Given the description of an element on the screen output the (x, y) to click on. 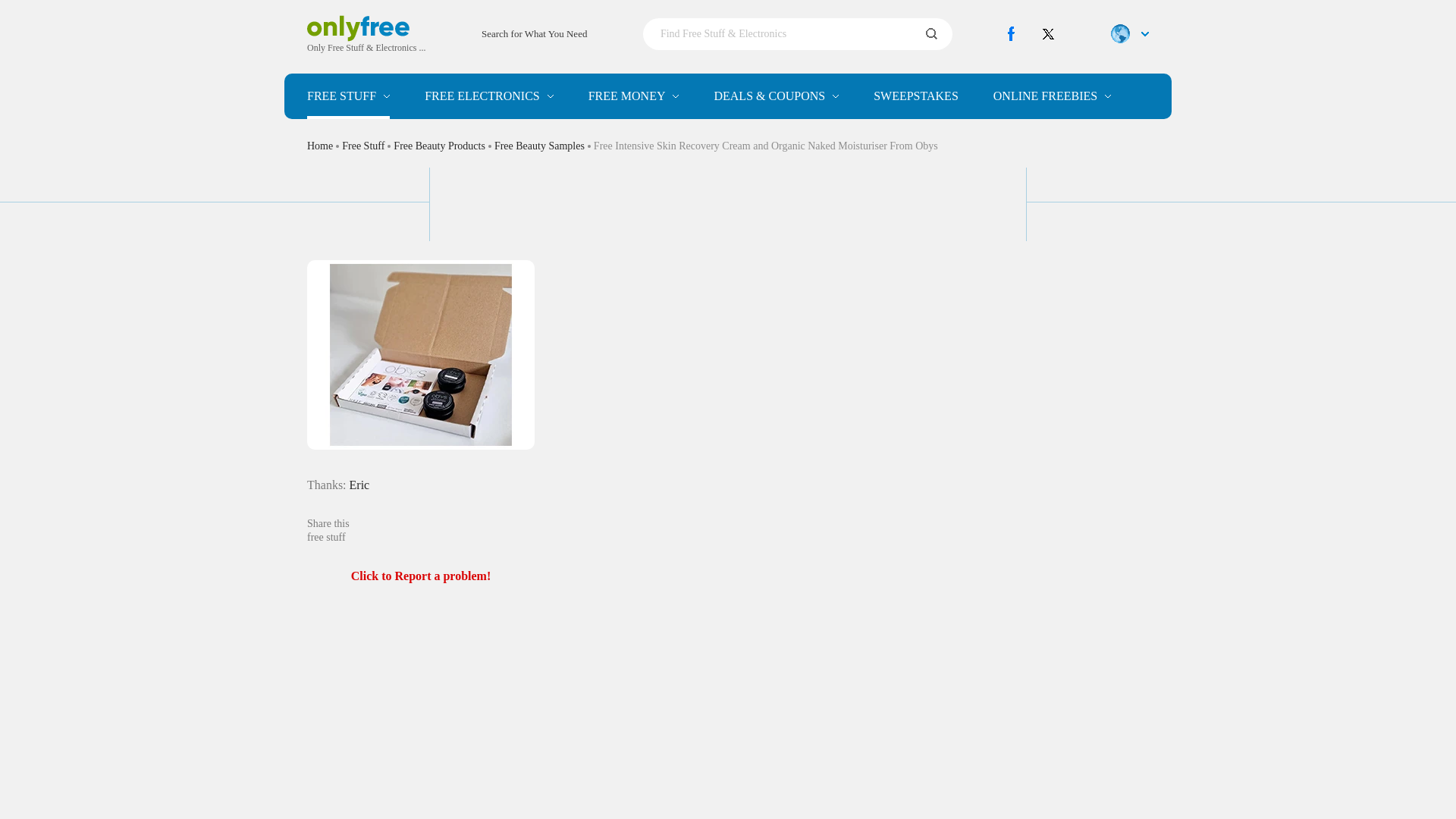
Free Stuff (348, 95)
Only Free on Twitter (1048, 33)
FREE STUFF (348, 95)
